Given the description of an element on the screen output the (x, y) to click on. 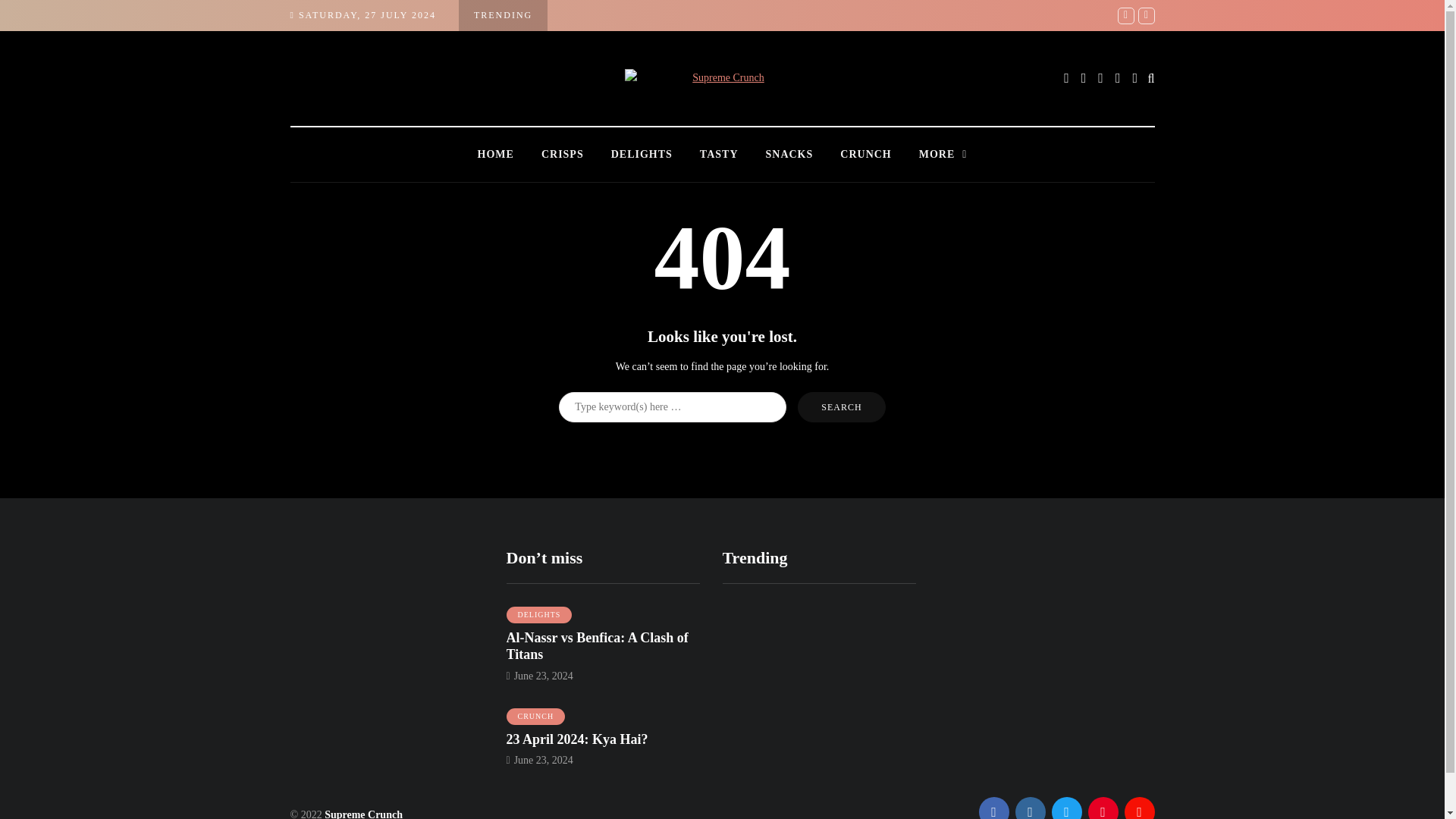
Search (841, 407)
SNACKS (789, 154)
CRUNCH (536, 716)
23 April 2024: Kya Hai? (576, 739)
Al-Nassr vs Benfica: A Clash of Titans (597, 646)
HOME (495, 154)
MORE (943, 154)
TASTY (718, 154)
DELIGHTS (539, 614)
DELIGHTS (640, 154)
Search (841, 407)
CRUNCH (865, 154)
CRISPS (561, 154)
